Given the description of an element on the screen output the (x, y) to click on. 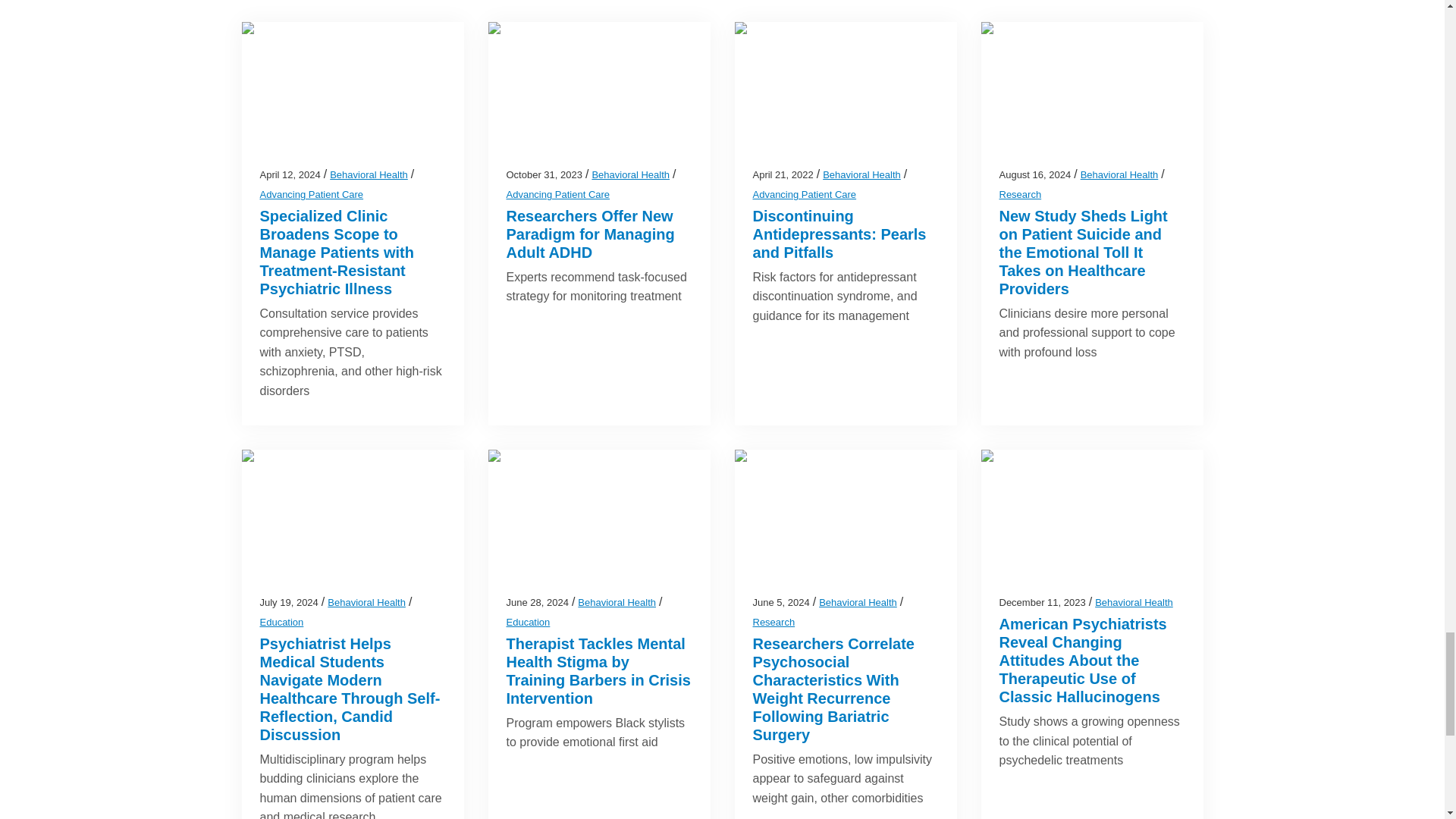
Advancing Patient Care (558, 194)
Researchers Offer New Paradigm for Managing Adult ADHD (590, 234)
Advancing Patient Care (310, 194)
Behavioral Health (630, 174)
Behavioral Health (368, 174)
